Given the description of an element on the screen output the (x, y) to click on. 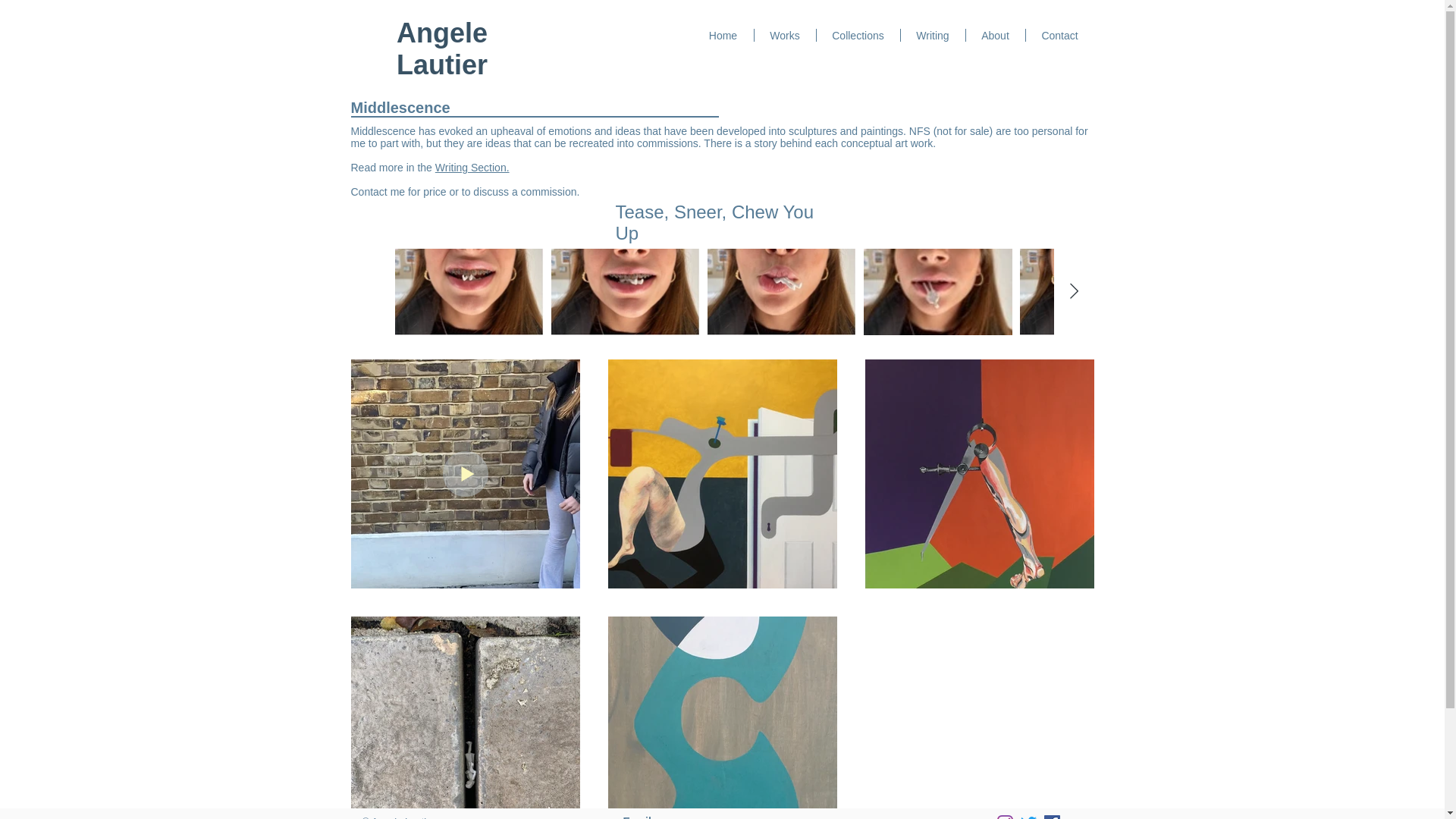
Collections (857, 34)
Angele Lautier (441, 48)
Writing Section. (472, 167)
Writing (933, 34)
Home (723, 34)
Contact (1059, 34)
Works (784, 34)
About (995, 34)
